Given the description of an element on the screen output the (x, y) to click on. 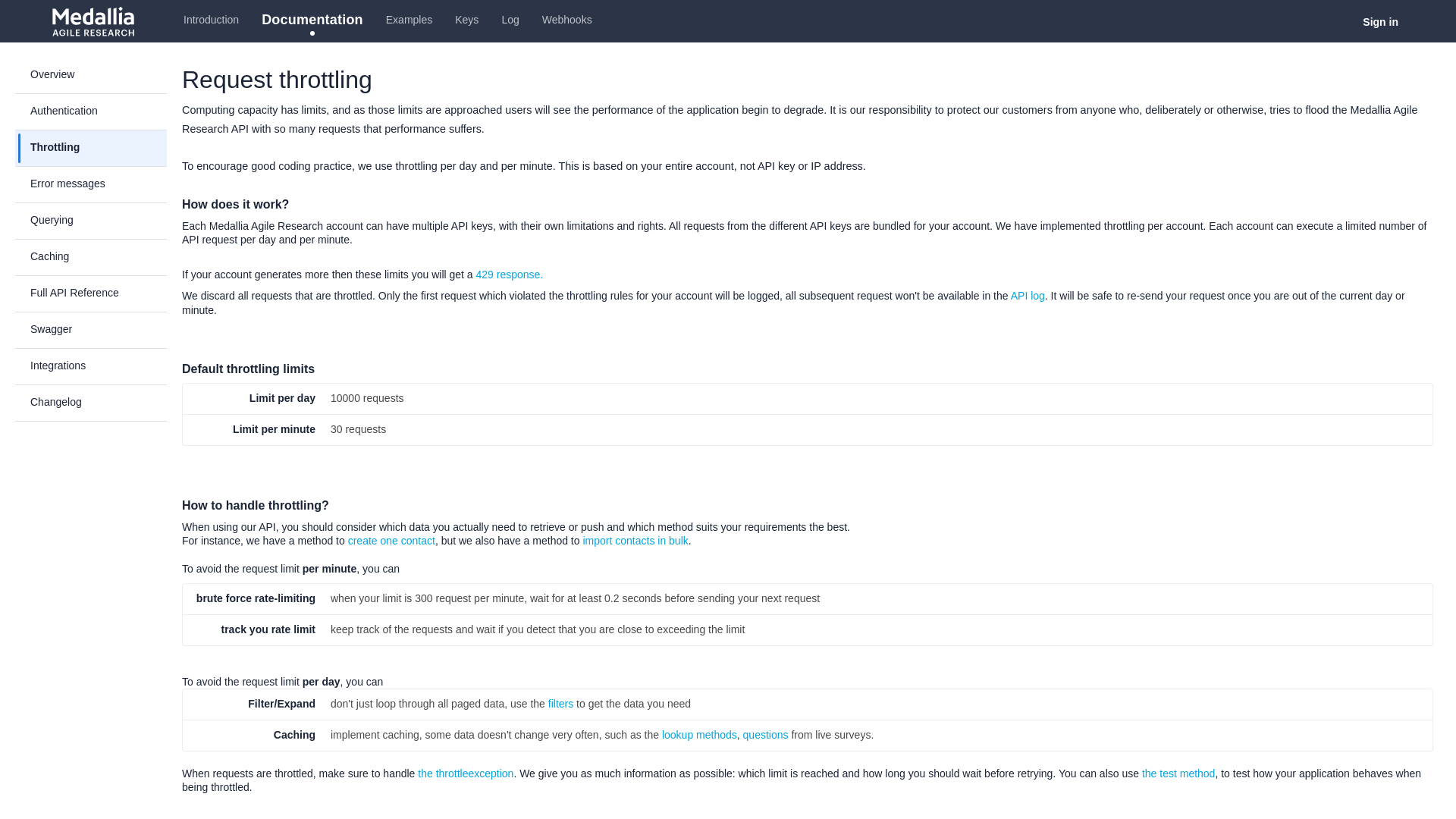
questions (765, 734)
Sign in (1380, 22)
Log (509, 21)
Swagger (98, 329)
Integrations (98, 365)
create one contact (391, 540)
API log (1027, 295)
Querying (98, 220)
429 response. (509, 274)
Keys (466, 21)
Webhooks (567, 21)
Changelog (98, 402)
import contacts in bulk (634, 540)
Documentation (312, 21)
the throttleexception (465, 773)
